Given the description of an element on the screen output the (x, y) to click on. 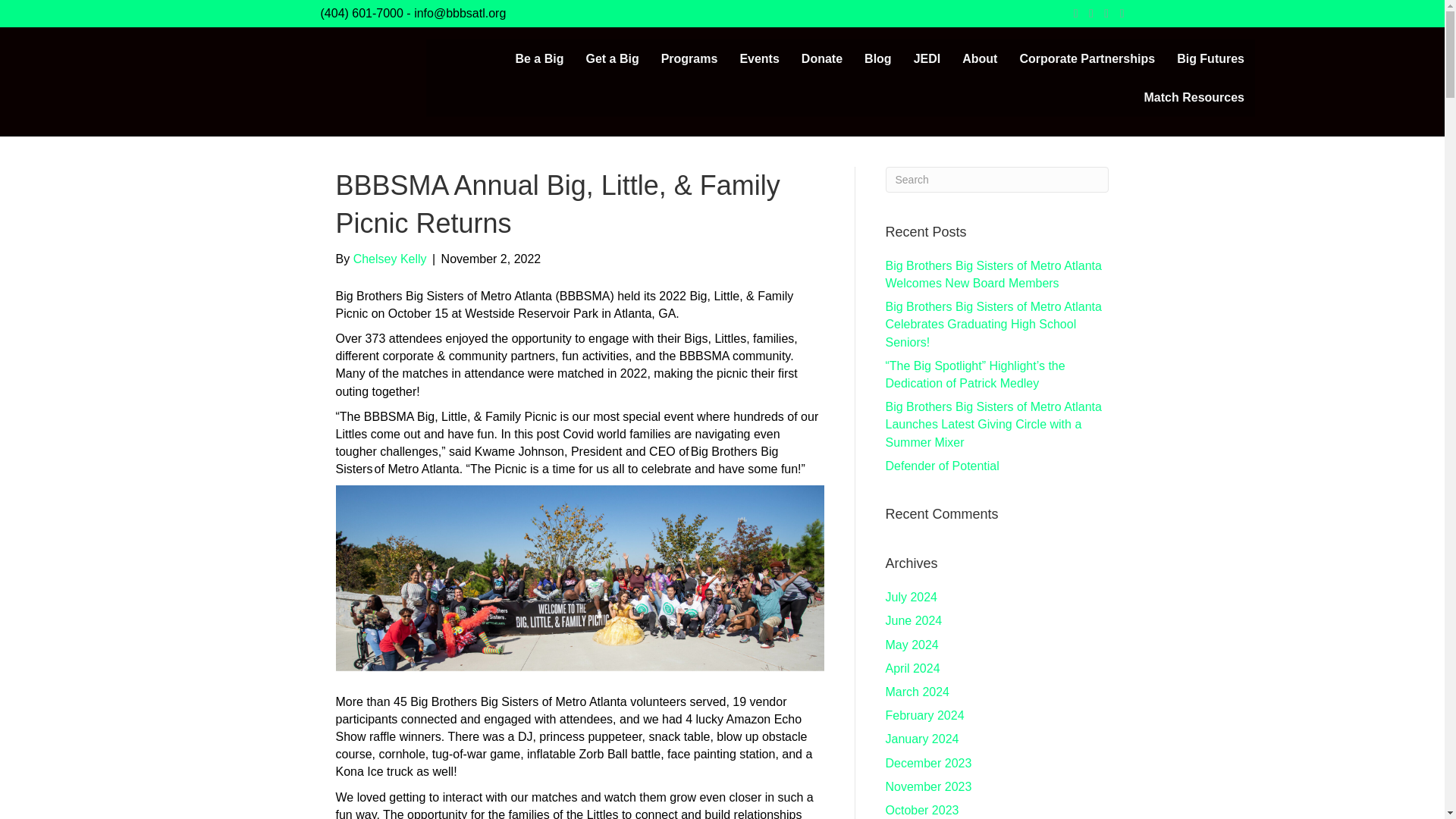
Donate (821, 58)
Type and press Enter to search. (997, 179)
Chelsey Kelly (389, 258)
Match Resources (1194, 97)
JEDI (927, 58)
Big Futures (1210, 58)
Events (759, 58)
Blog (877, 58)
Get a Big (612, 58)
Programs (689, 58)
Be a Big (538, 58)
About (979, 58)
Corporate Partnerships (1087, 58)
